Given the description of an element on the screen output the (x, y) to click on. 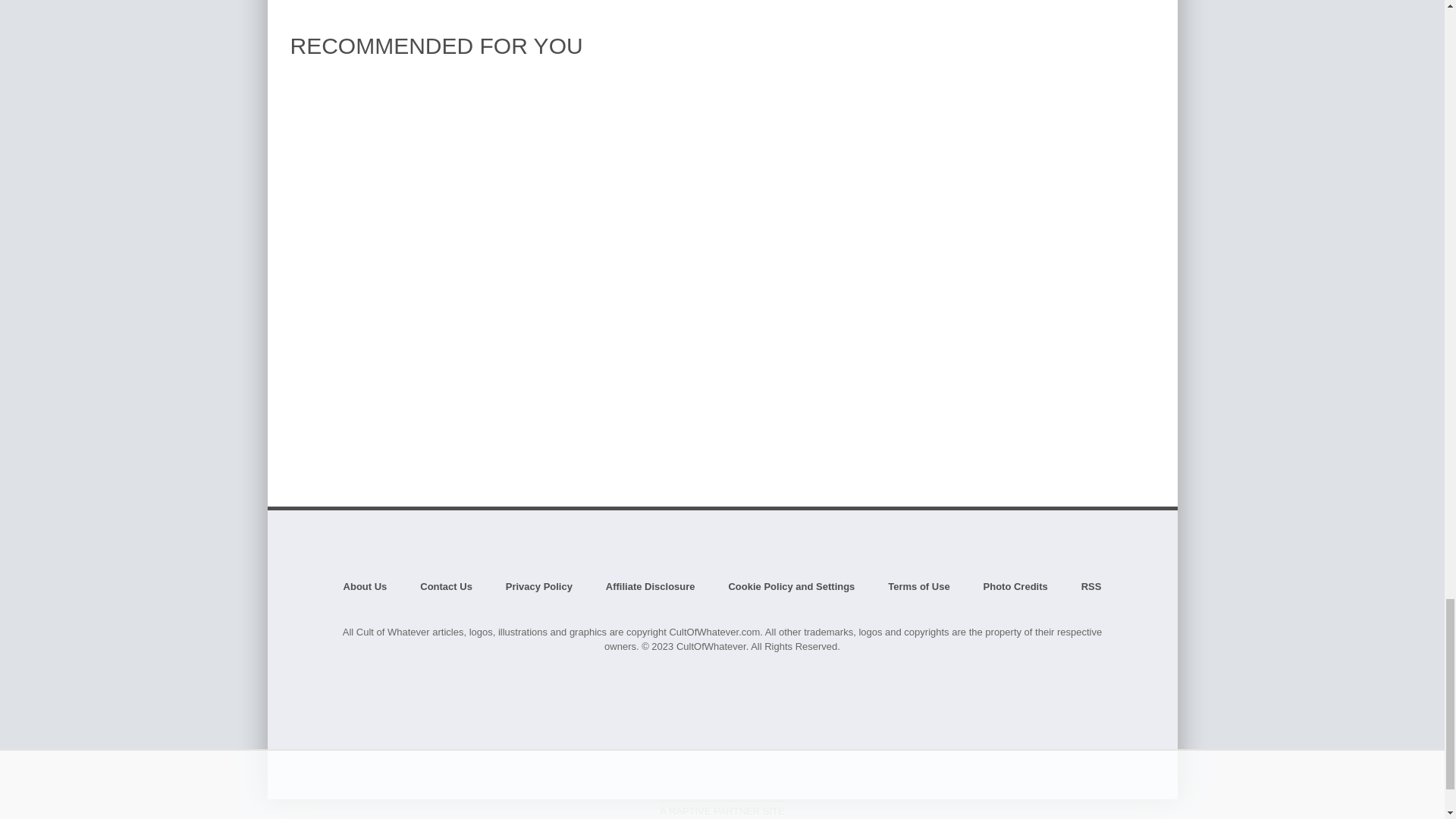
facebook (700, 775)
